Given the description of an element on the screen output the (x, y) to click on. 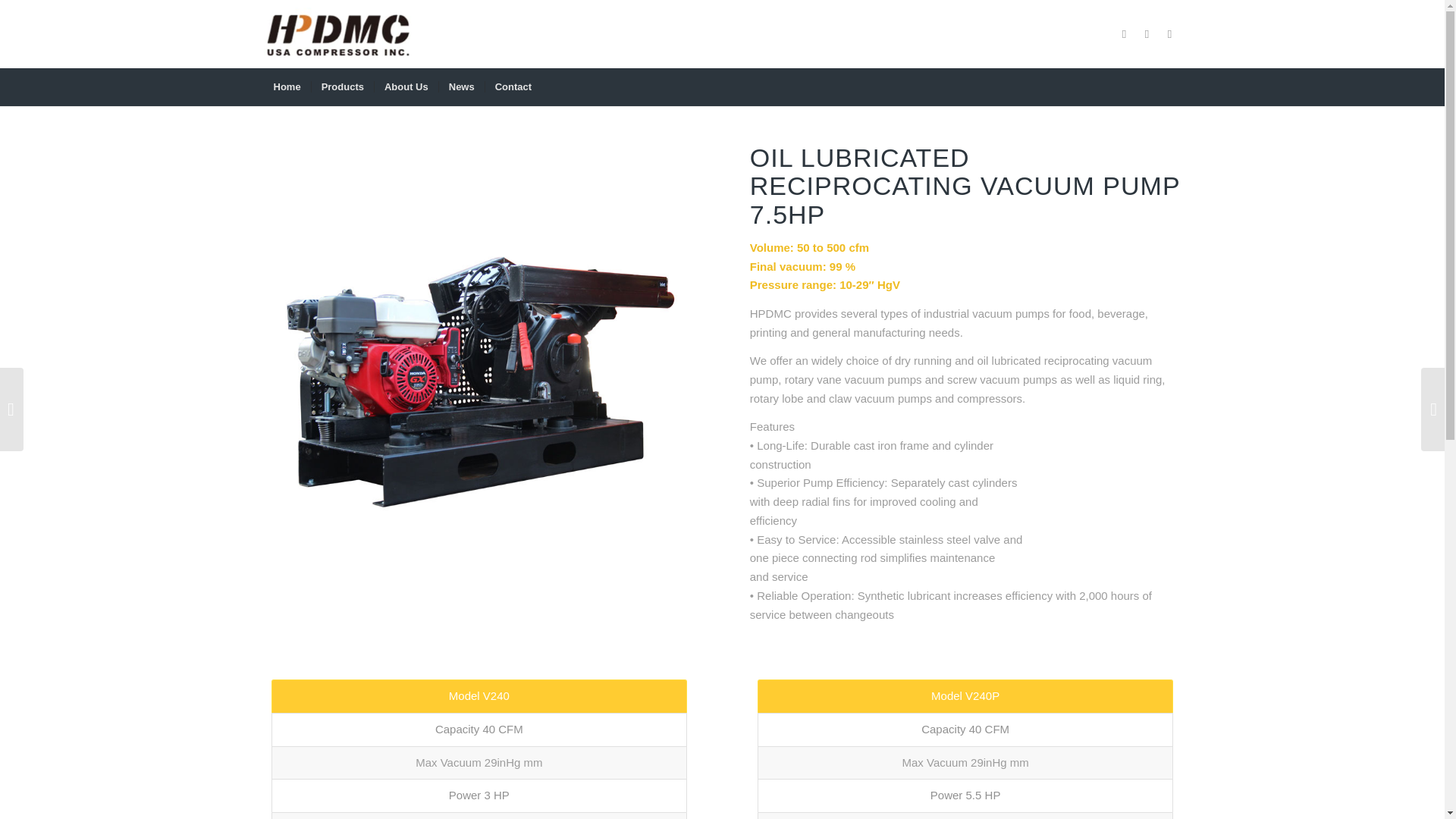
Youtube (1124, 33)
Linkedin (1146, 33)
News (461, 86)
Contact (512, 86)
Facebook (1169, 33)
Home (287, 86)
Products (342, 86)
About Us (406, 86)
